Given the description of an element on the screen output the (x, y) to click on. 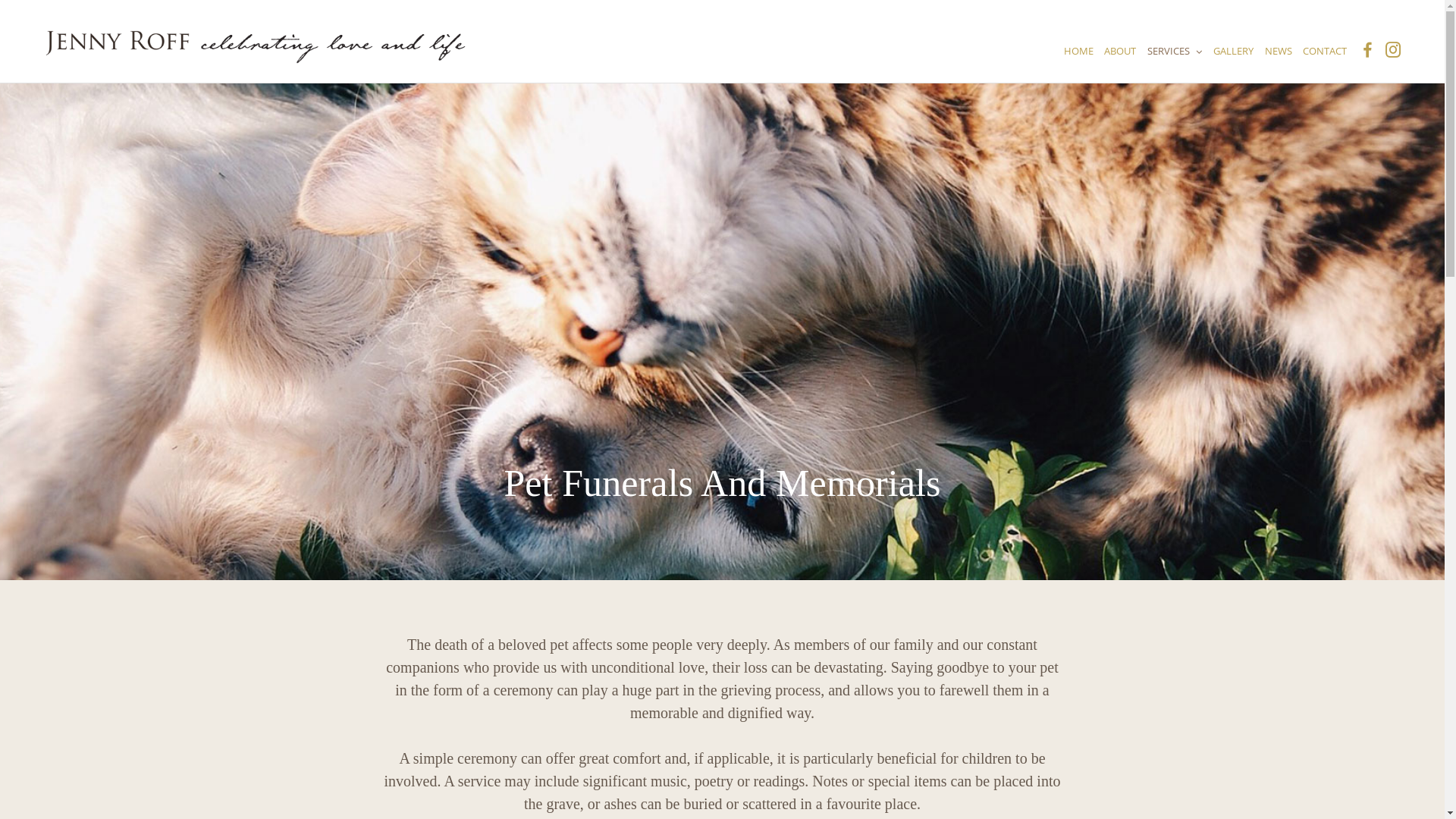
Getting Married? Element type: text (606, 428)
Terms of Service Element type: text (606, 464)
SERVICES Element type: text (1174, 50)
GALLERY Element type: text (1233, 50)
Privacy policy Element type: text (598, 446)
ABOUT Element type: text (1119, 50)
CONTACT Element type: text (1324, 50)
HOME Element type: text (1079, 50)
NEWS Element type: text (1277, 50)
jenny@loveandlife.com.au Element type: text (1112, 446)
